Given the description of an element on the screen output the (x, y) to click on. 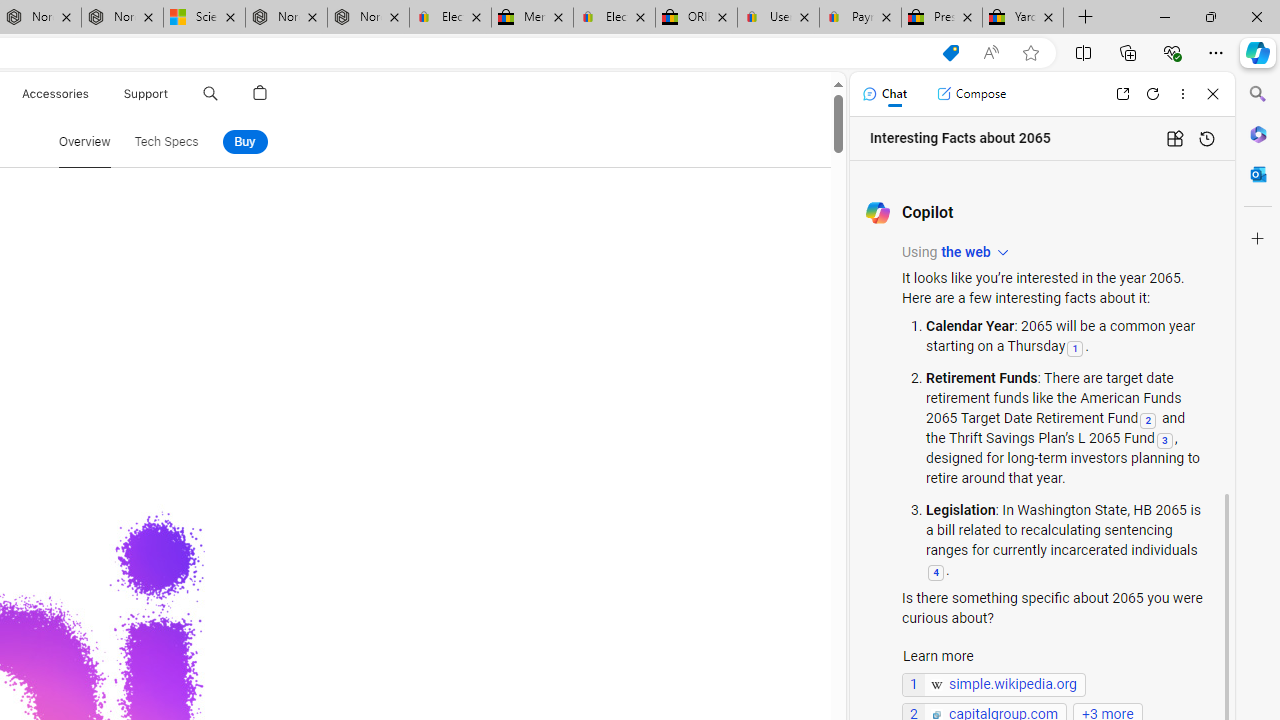
Accessories (54, 93)
AutomationID: globalnav-bag (260, 93)
Class: globalnav-item globalnav-search shift-0-1 (210, 93)
Shopping Bag (260, 93)
Buy HomePod mini (244, 142)
Support menu (172, 93)
